Given the description of an element on the screen output the (x, y) to click on. 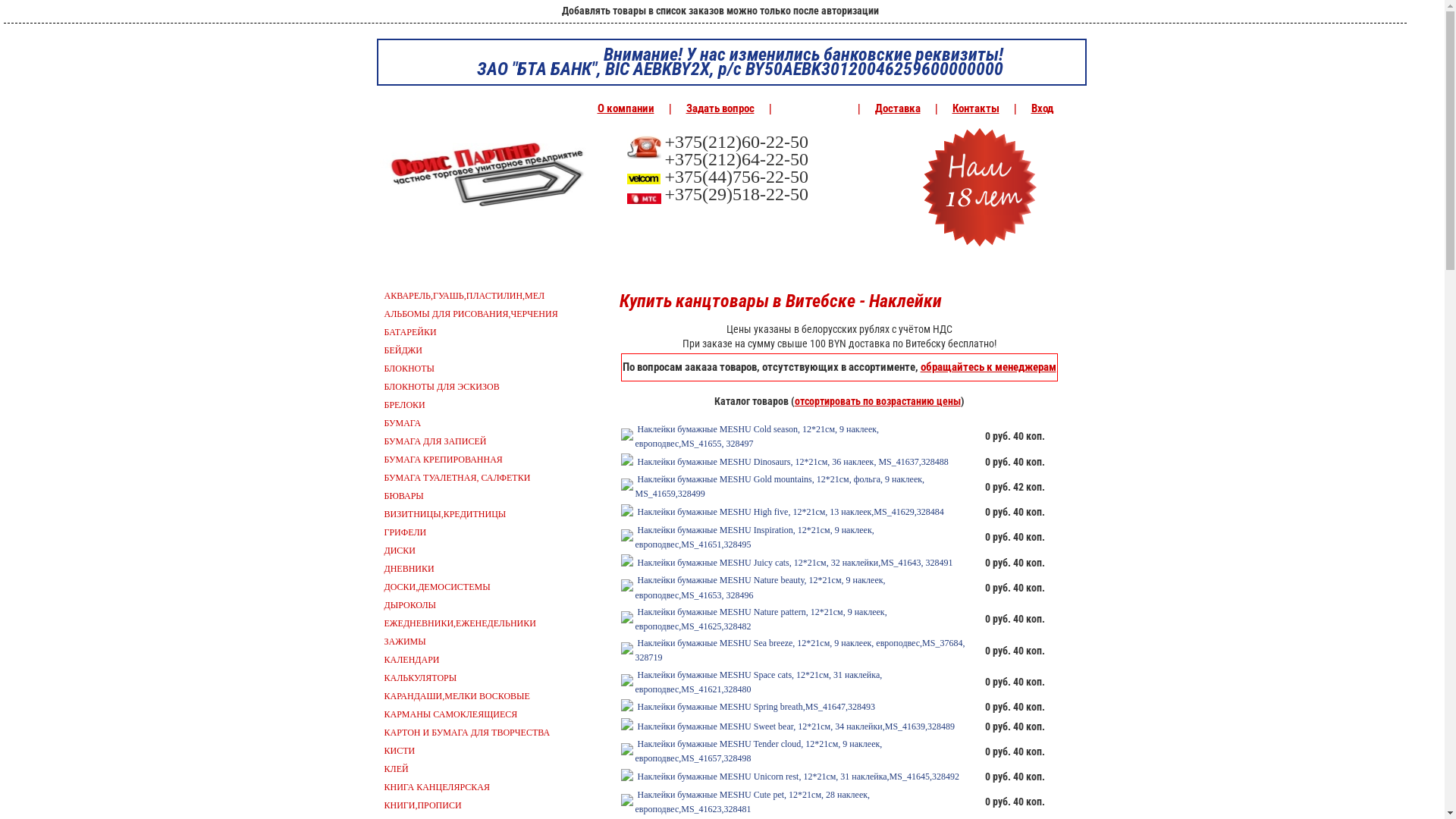
  Element type: text (853, 225)
